Given the description of an element on the screen output the (x, y) to click on. 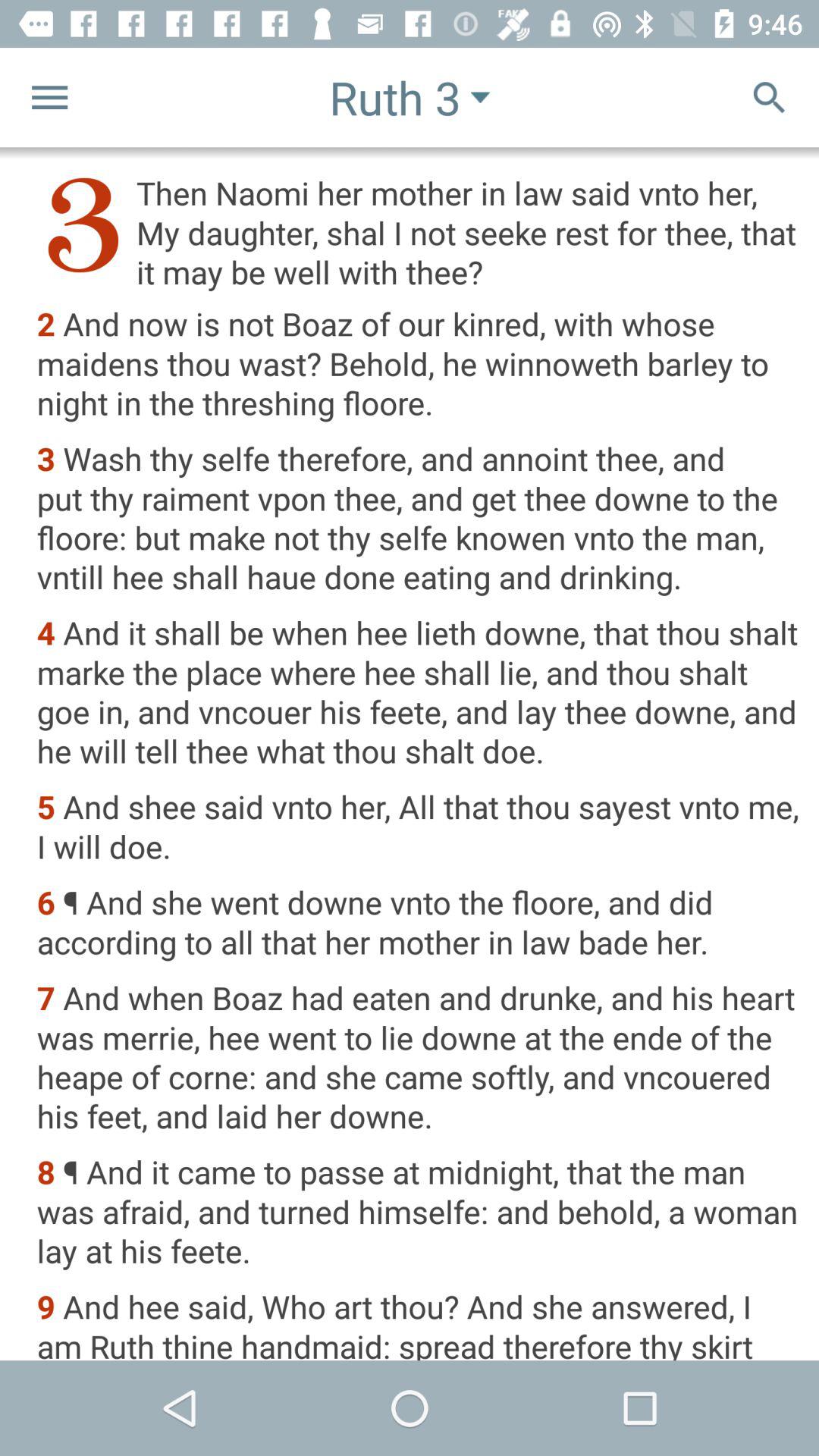
flip to 3 wash thy icon (417, 519)
